Given the description of an element on the screen output the (x, y) to click on. 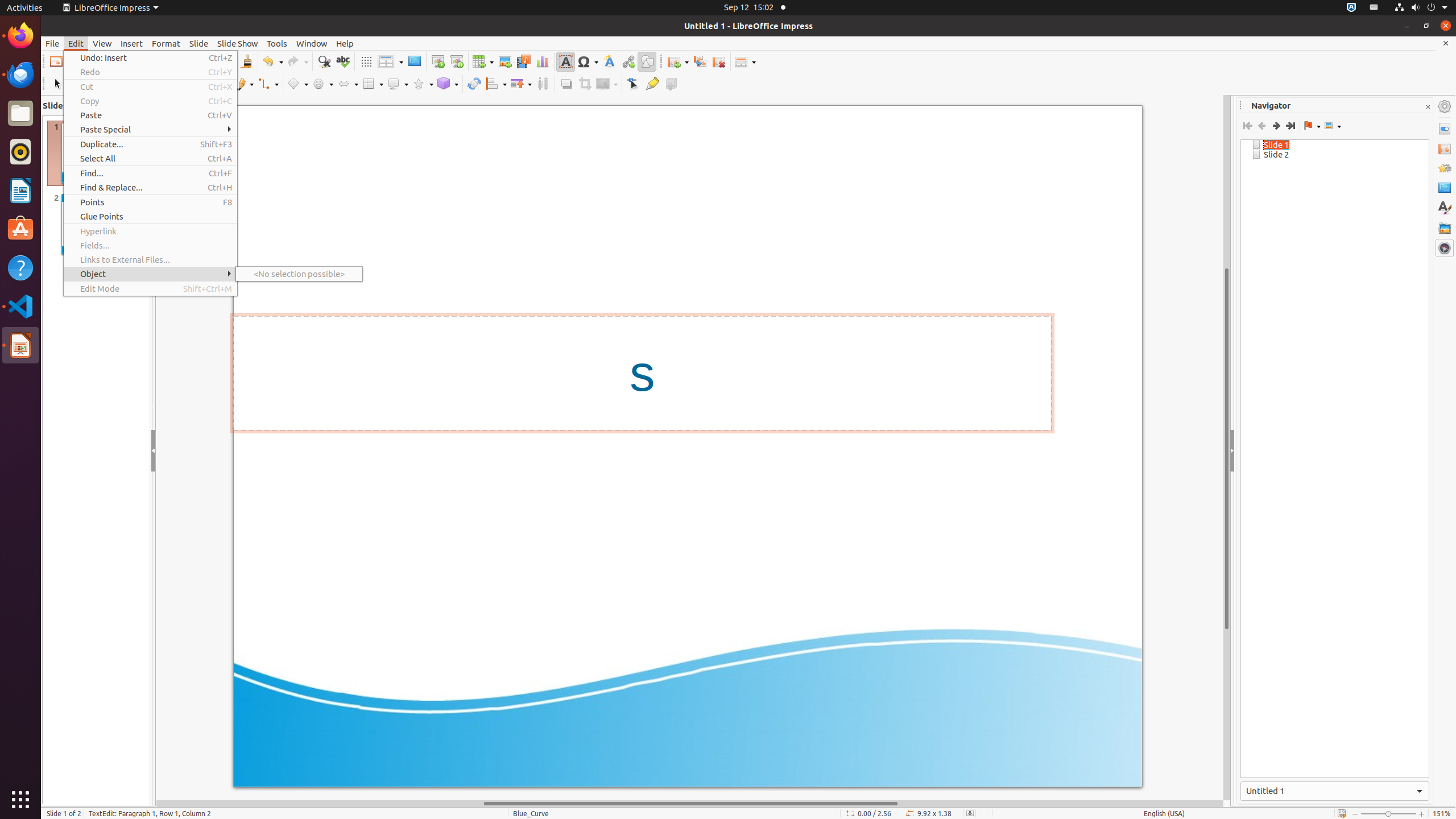
Tools Element type: menu (276, 43)
Close Sidebar Deck Element type: push-button (1427, 106)
Horizontal scroll bar Element type: scroll-bar (689, 803)
Slide Transition Element type: radio-button (1444, 148)
